Given the description of an element on the screen output the (x, y) to click on. 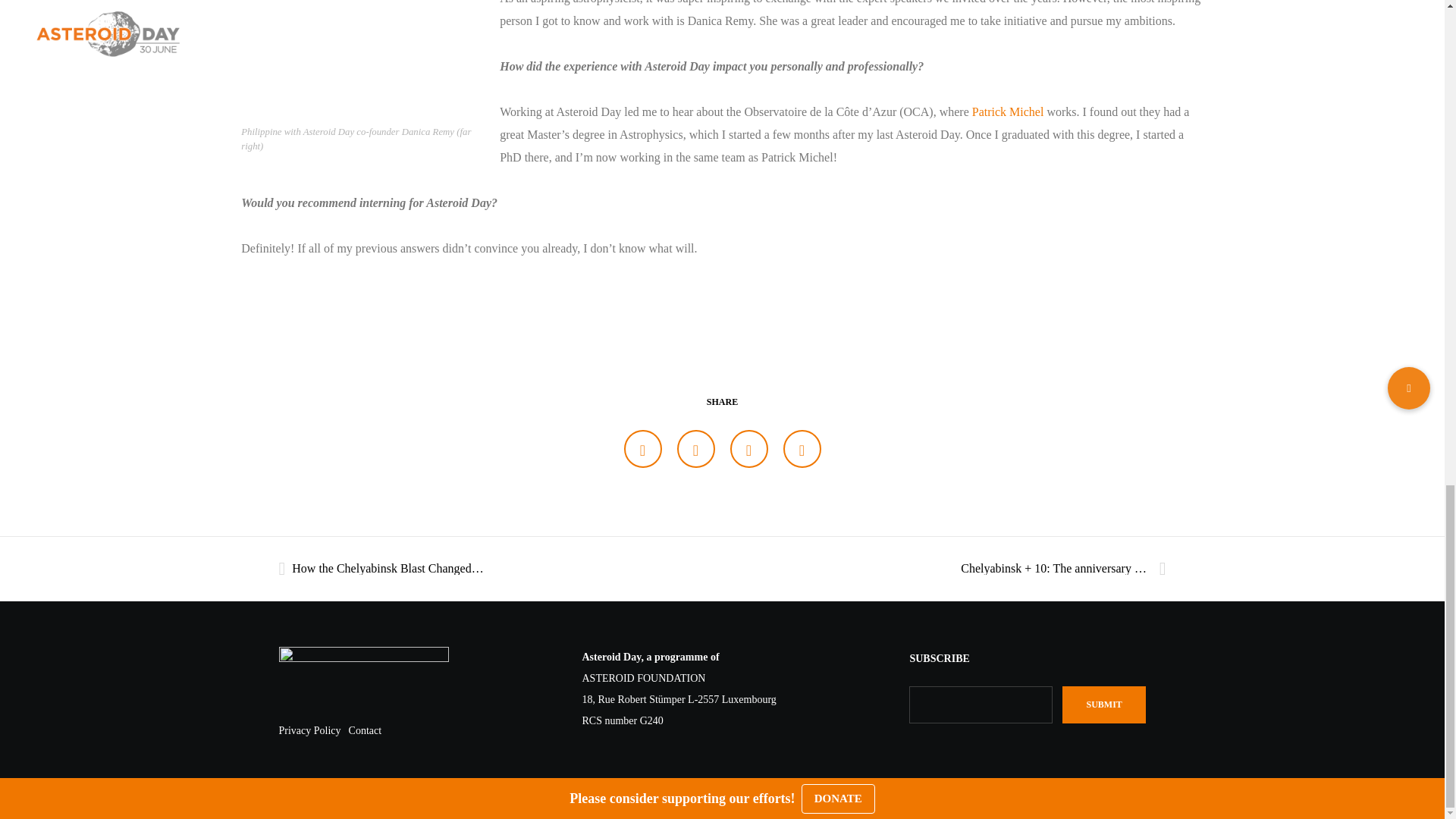
Contact (365, 730)
Submit (1103, 704)
Patrick Michel (1007, 111)
Privacy Policy (309, 730)
